Given the description of an element on the screen output the (x, y) to click on. 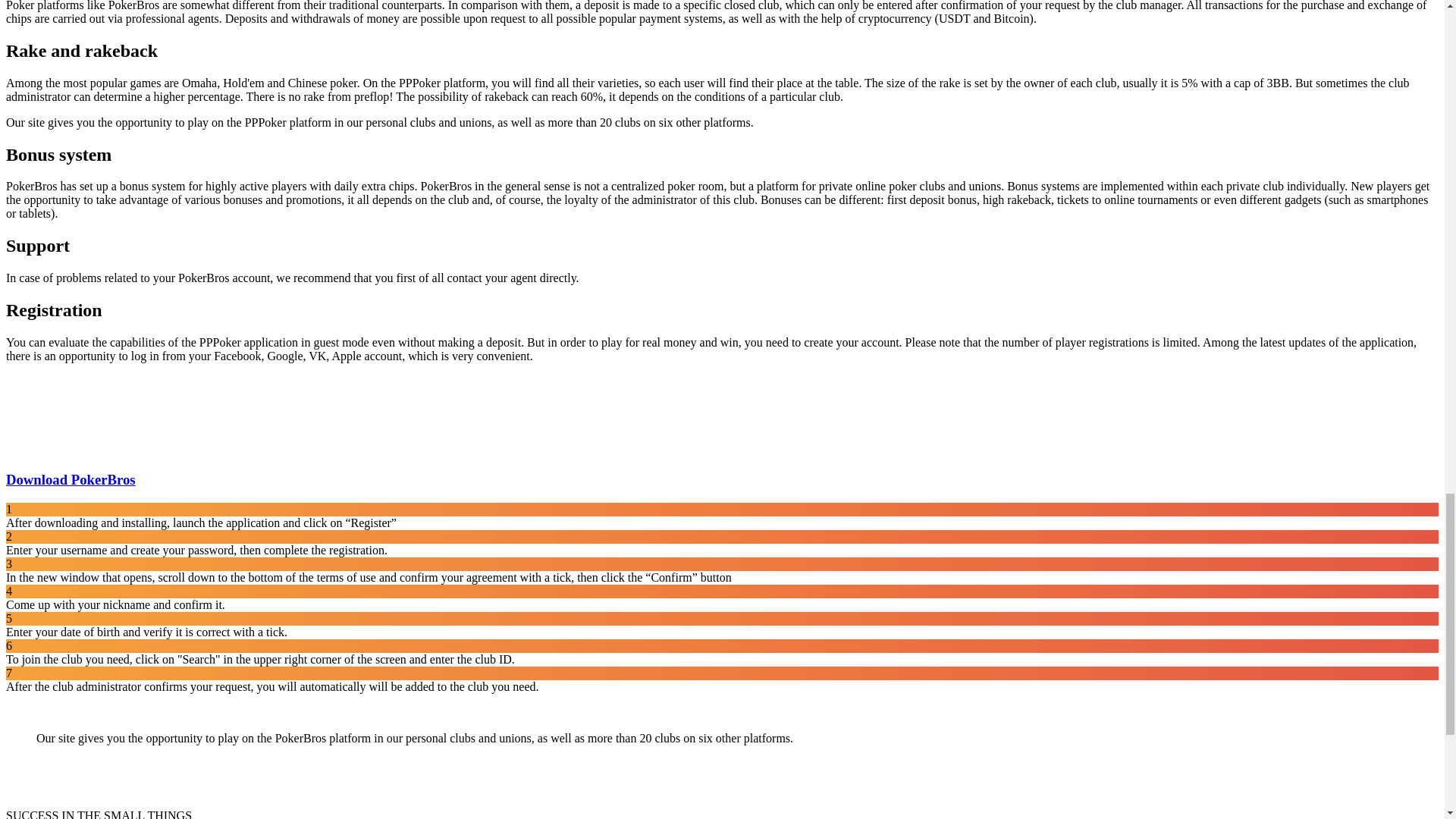
Download PokerBros (70, 479)
